Given the description of an element on the screen output the (x, y) to click on. 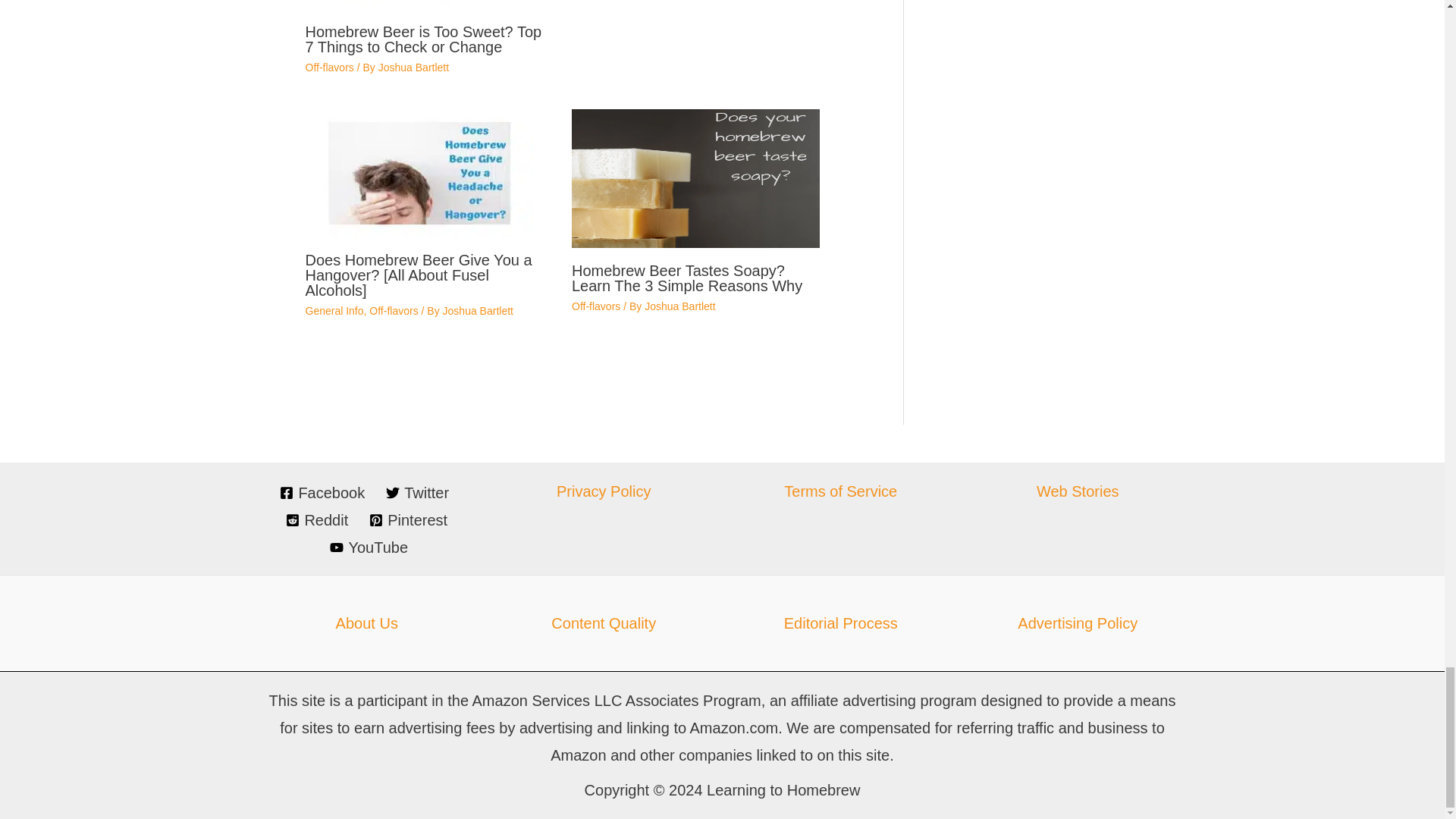
View all posts by Joshua Bartlett (413, 67)
View all posts by Joshua Bartlett (477, 310)
View all posts by Joshua Bartlett (679, 306)
